Given the description of an element on the screen output the (x, y) to click on. 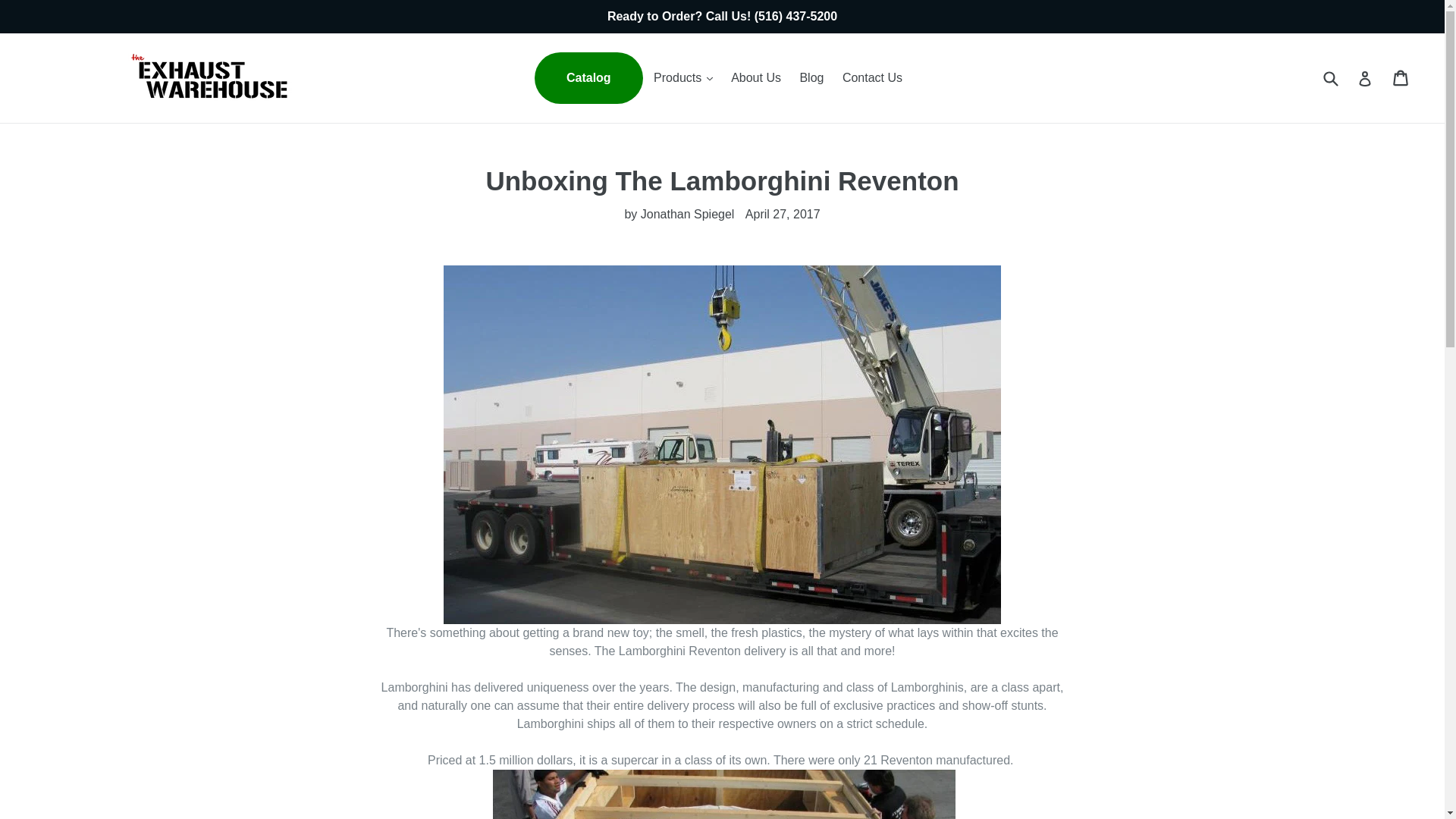
Blog (811, 77)
About Us (756, 77)
Catalog (588, 78)
Contact Us (872, 77)
